Given the description of an element on the screen output the (x, y) to click on. 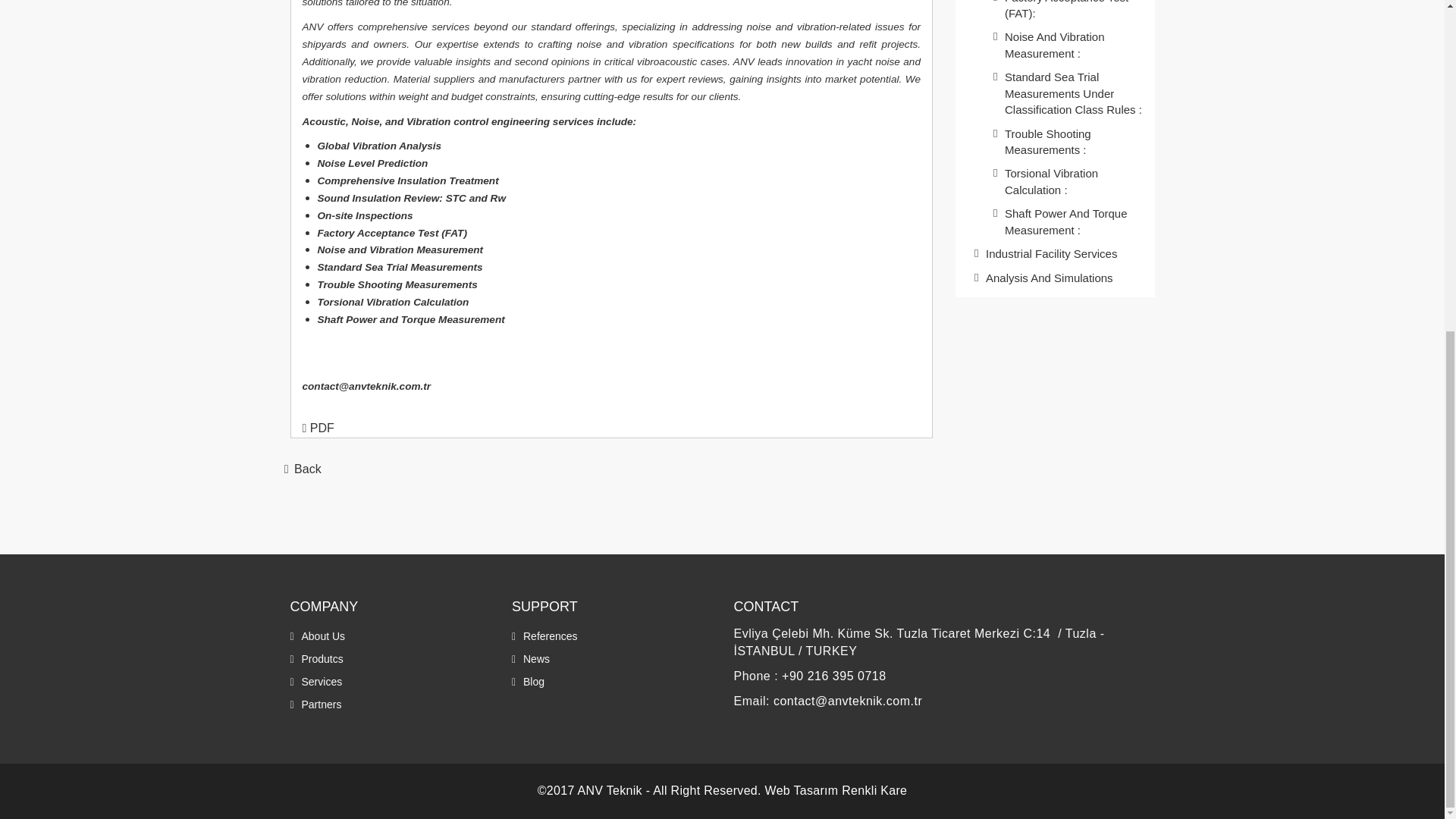
Comprehensive Insulation Treatment (407, 179)
PDF (317, 427)
Sound Insulation Review: STC and Rw (411, 196)
Trouble Shooting Measurements : (1069, 142)
Standard Sea Trial Measurements (399, 266)
Global Vibration Analysis (379, 145)
Trouble Shooting Measurements (397, 283)
Shaft Power and Torque Measurement (410, 318)
On-site Inspections (364, 214)
Noise Level Prediction (372, 162)
Noise and Vibration Measurement (400, 249)
Torsional Vibration Calculation (392, 300)
Torsional Vibration Calculation : (1069, 181)
Back (300, 468)
